Given the description of an element on the screen output the (x, y) to click on. 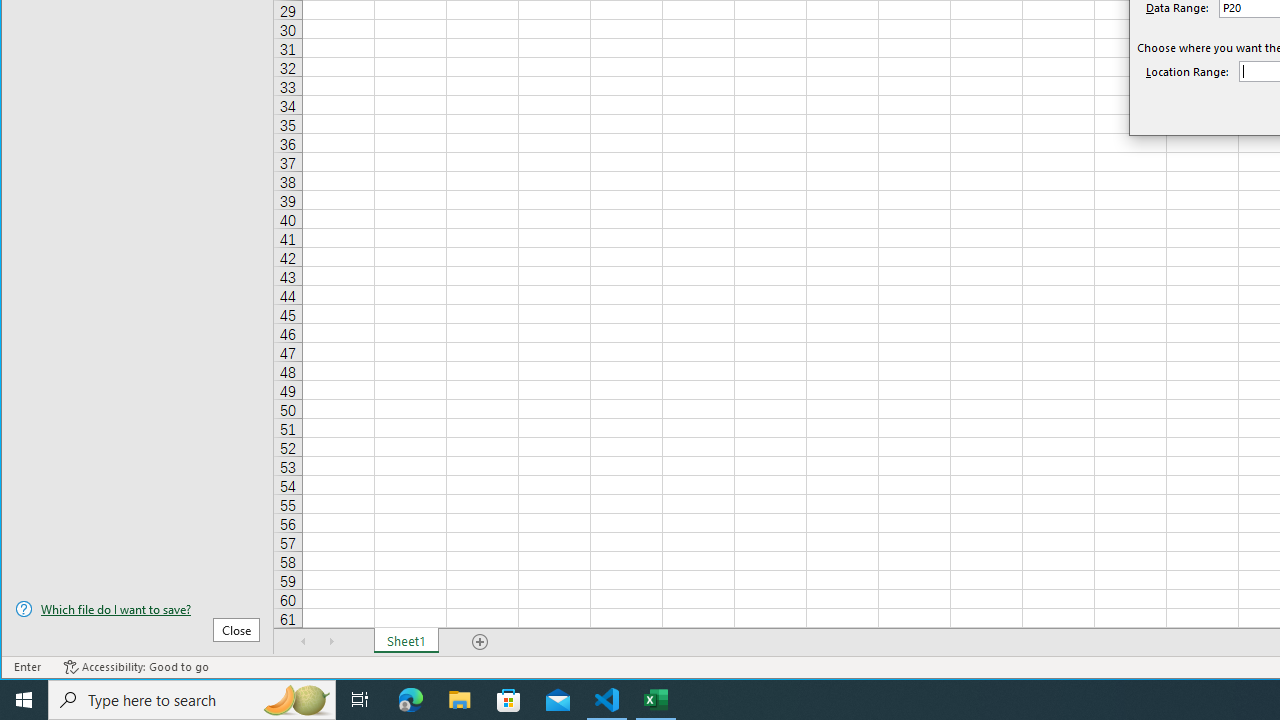
Search highlights icon opens search home window (295, 699)
